Given the description of an element on the screen output the (x, y) to click on. 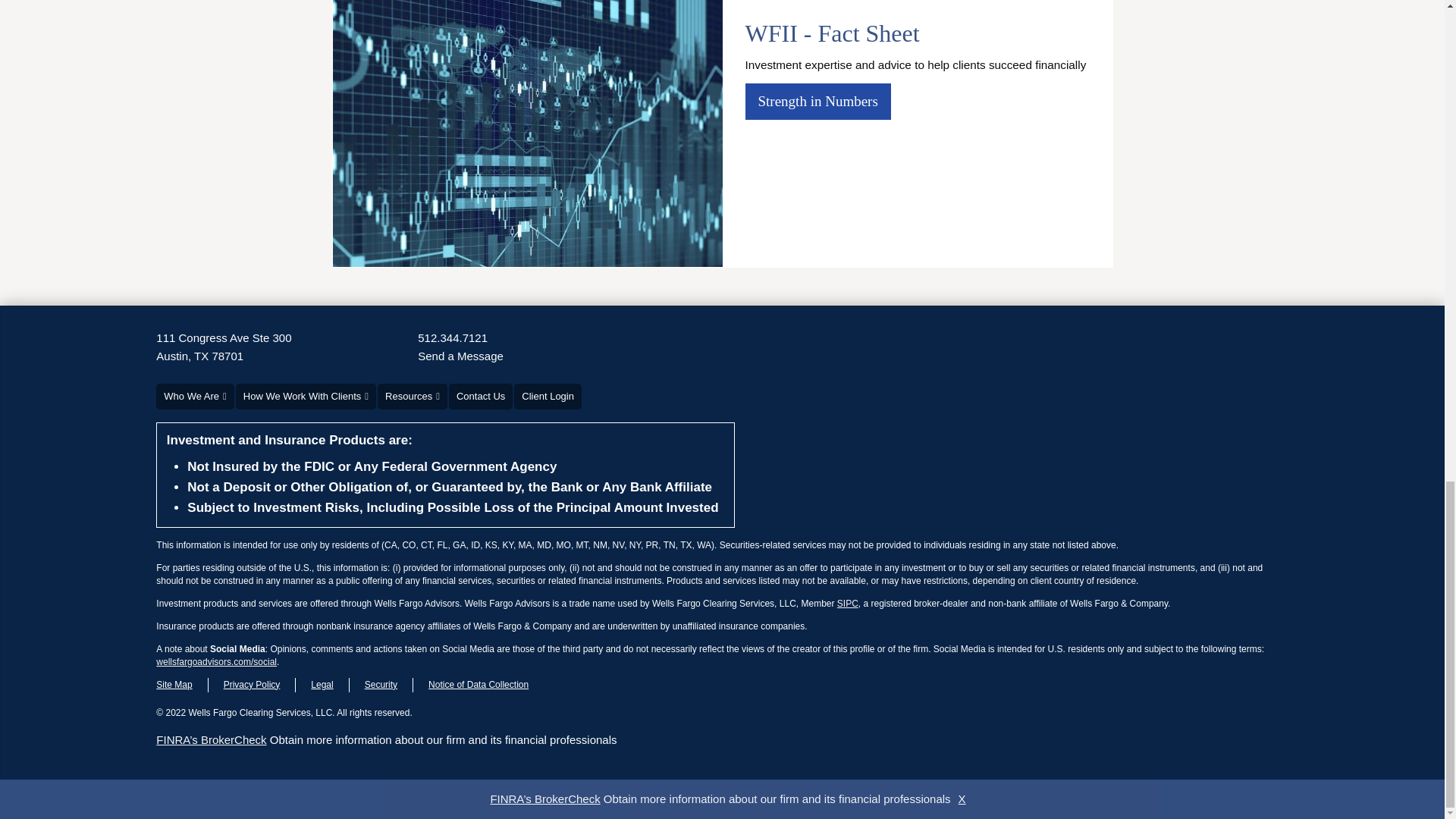
Strength in Numbers (816, 100)
512.344.7121 (223, 347)
Strength in Numbers (452, 338)
Strength in Numbers (816, 100)
Send a Message (816, 100)
Who We Are (460, 356)
